Given the description of an element on the screen output the (x, y) to click on. 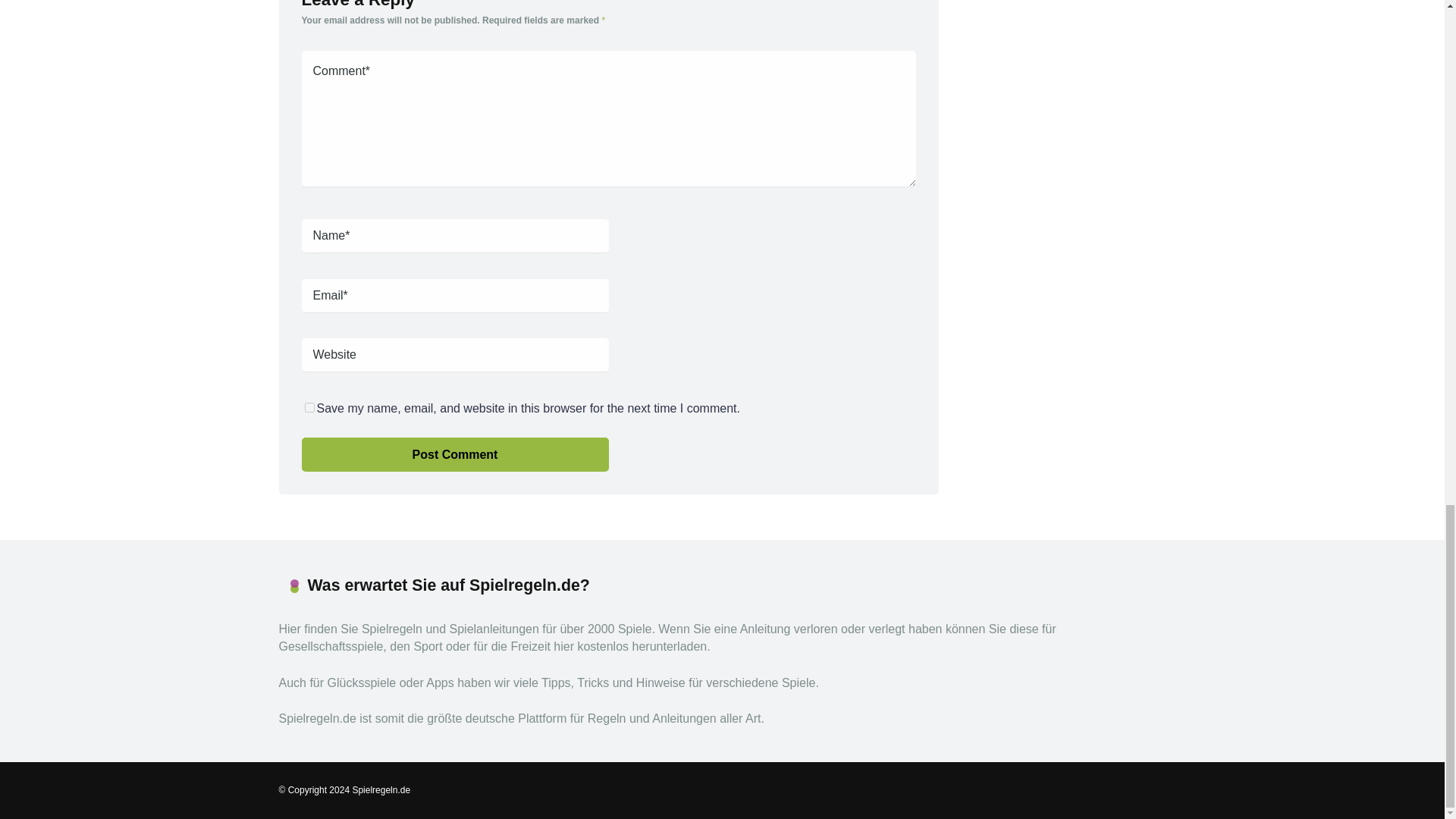
Post Comment (454, 454)
yes (309, 407)
